Given the description of an element on the screen output the (x, y) to click on. 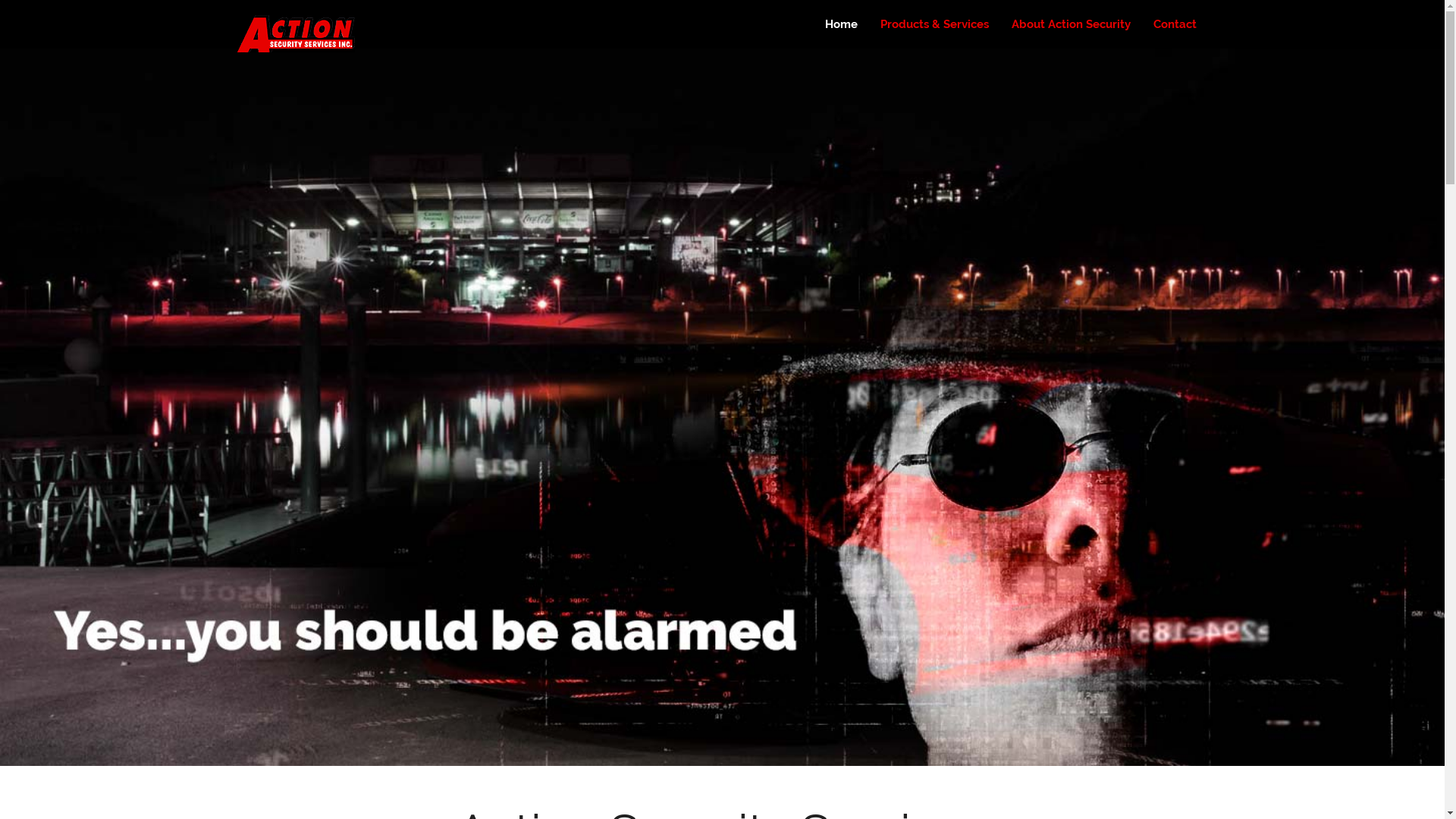
Products & Services Element type: text (934, 24)
Contact Element type: text (1175, 24)
Home Element type: text (840, 24)
About Action Security Element type: text (1070, 24)
